Given the description of an element on the screen output the (x, y) to click on. 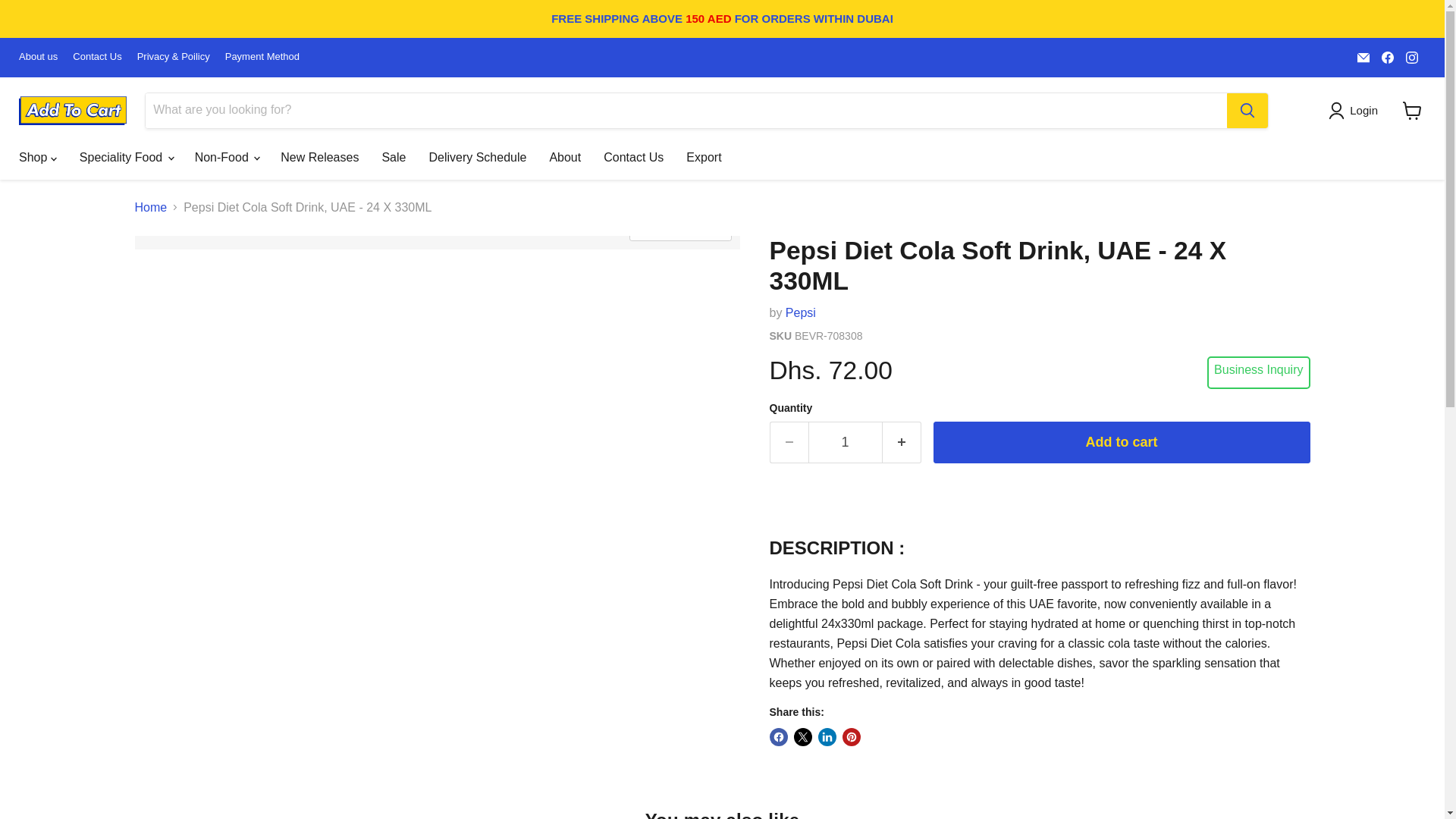
Instagram (1411, 56)
About us (38, 57)
Login (1355, 110)
Find us on Facebook (1387, 56)
Find us on Instagram (1411, 56)
Contact Us (96, 57)
Payment Method (262, 57)
Facebook (1387, 56)
1 (845, 442)
View cart (1411, 110)
